Given the description of an element on the screen output the (x, y) to click on. 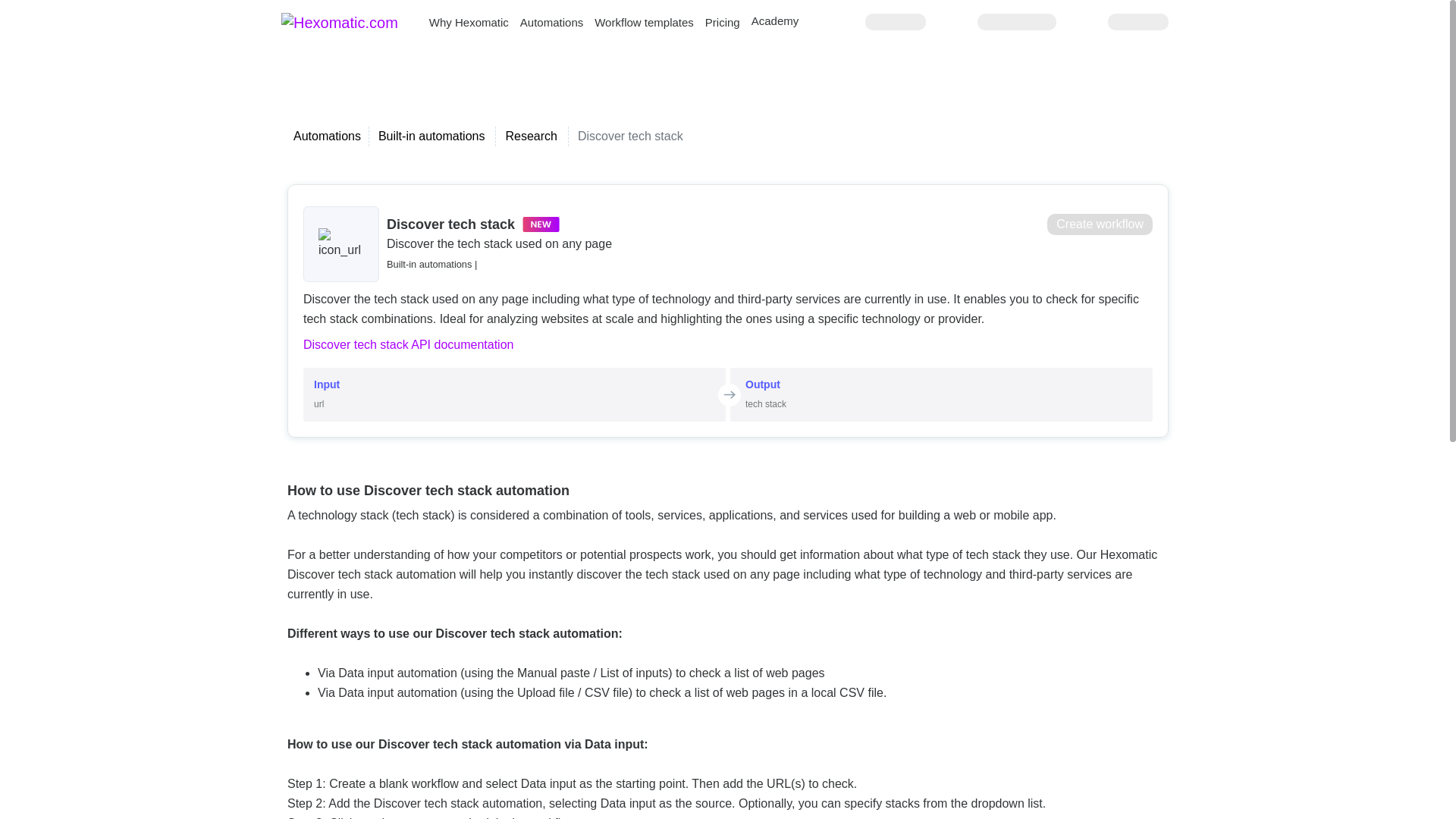
Discover tech stack API documentation (727, 344)
Create workflow (1099, 224)
Research (530, 135)
Why Hexomatic (468, 21)
Workflow templates (644, 21)
Automations (551, 21)
Built-in automations (431, 135)
Pricing (721, 21)
Academy (775, 20)
Automations (327, 135)
